Given the description of an element on the screen output the (x, y) to click on. 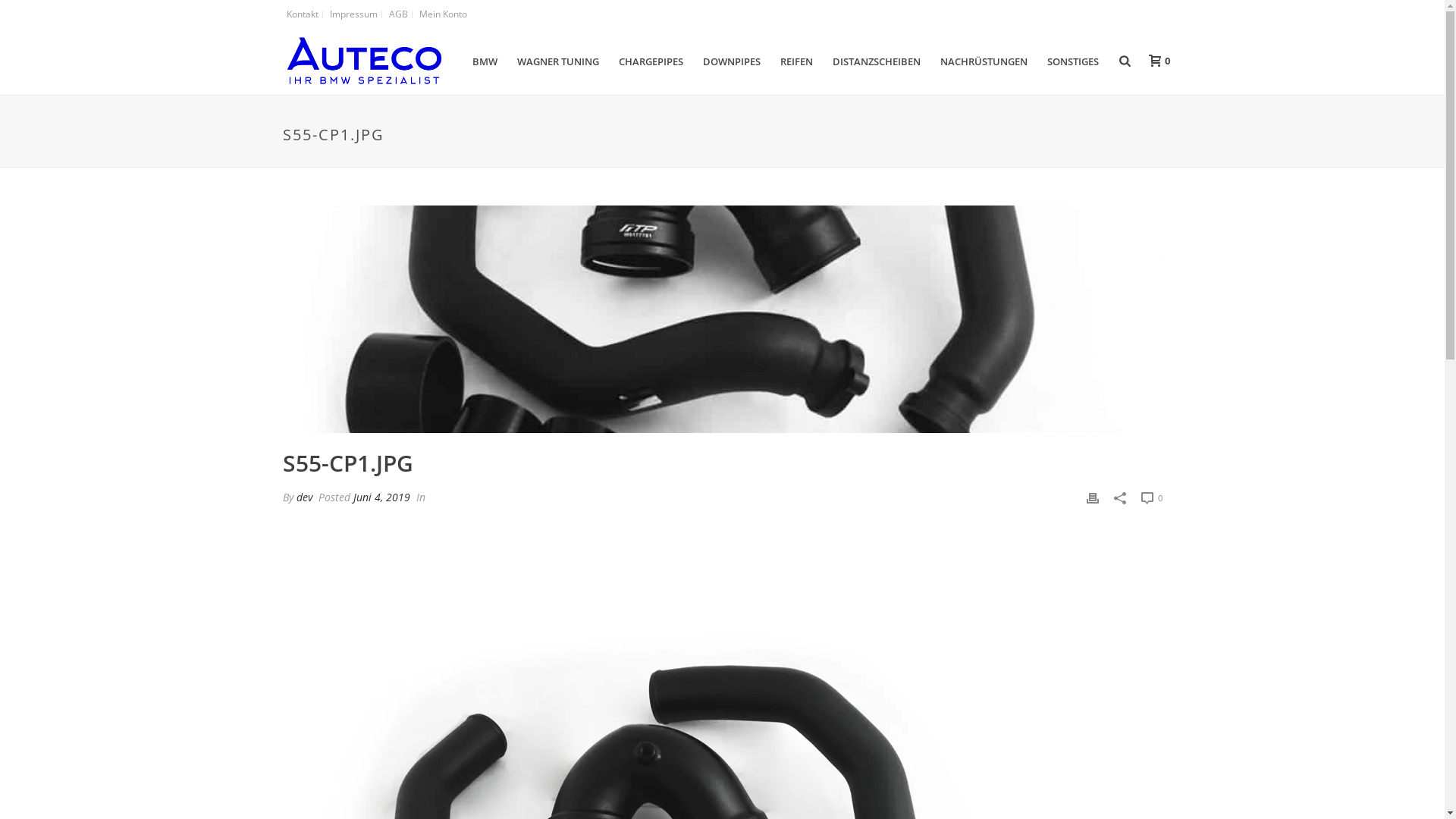
BMW Element type: text (484, 61)
0 Element type: text (1154, 60)
dev Element type: text (303, 496)
Mein Konto Element type: text (442, 14)
DOWNPIPES Element type: text (731, 61)
Print Element type: hover (1091, 496)
Juni 4, 2019 Element type: text (381, 496)
WAGNER TUNING Element type: text (557, 61)
SONSTIGES Element type: text (1072, 61)
CHARGEPIPES Element type: text (650, 61)
0 Element type: text (1150, 497)
AGB Element type: text (398, 14)
DISTANZSCHEIBEN Element type: text (876, 61)
REIFEN Element type: text (796, 61)
s55-cp1.jpg Element type: hover (721, 319)
Impressum Element type: text (354, 14)
Kontakt Element type: text (302, 14)
